Given the description of an element on the screen output the (x, y) to click on. 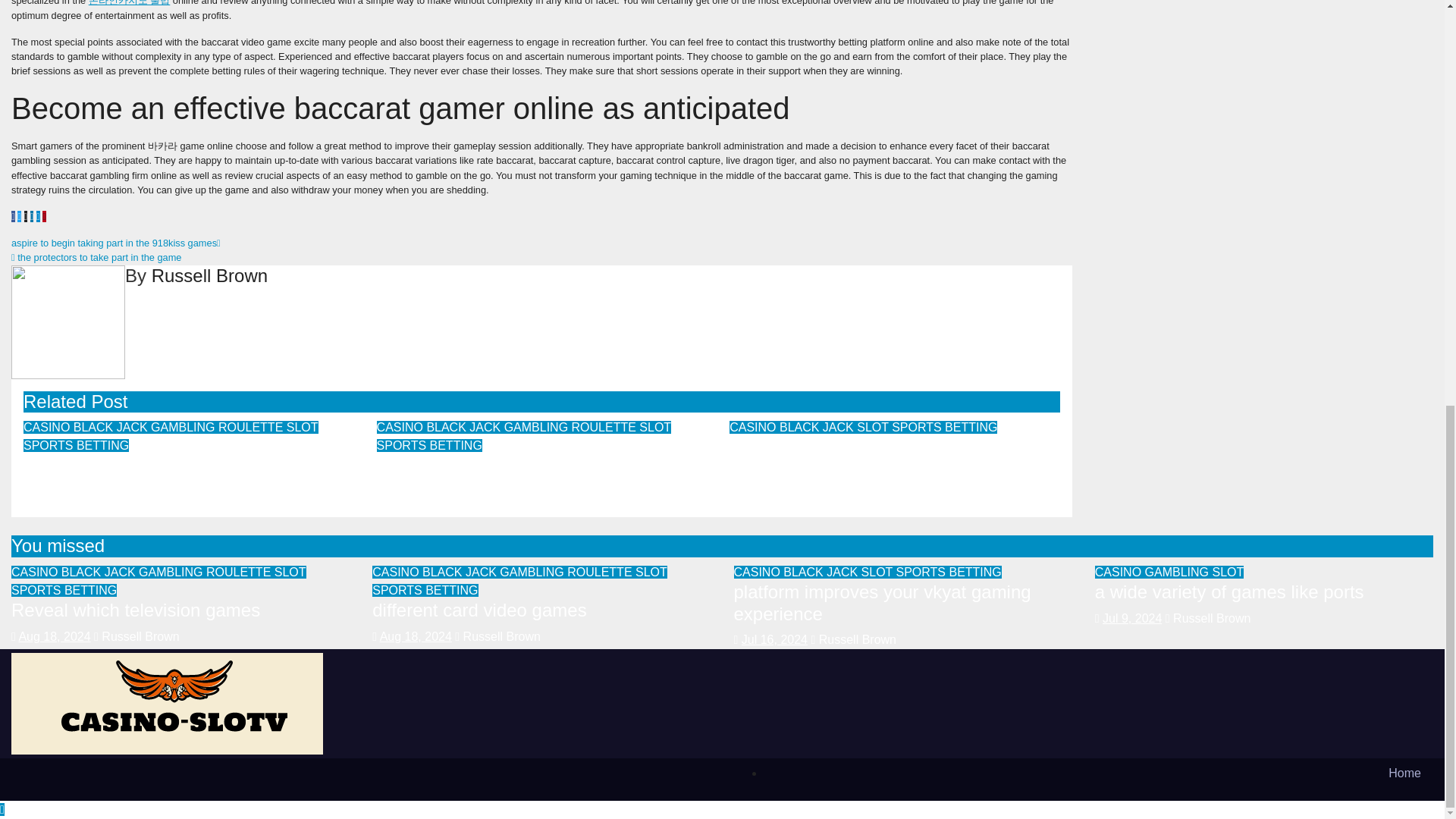
the protectors to take part in the game (96, 256)
Permalink to: different card video games (479, 609)
Permalink to: different card video games (484, 465)
Permalink to: a wide variety of games like ports (1229, 591)
Permalink to: platform improves your vkyat gaming experience (877, 457)
aspire to begin taking part in the 918kiss games (116, 242)
SLOT (302, 427)
ROULETTE (252, 427)
BLACK JACK (112, 427)
Home (1099, 773)
